Given the description of an element on the screen output the (x, y) to click on. 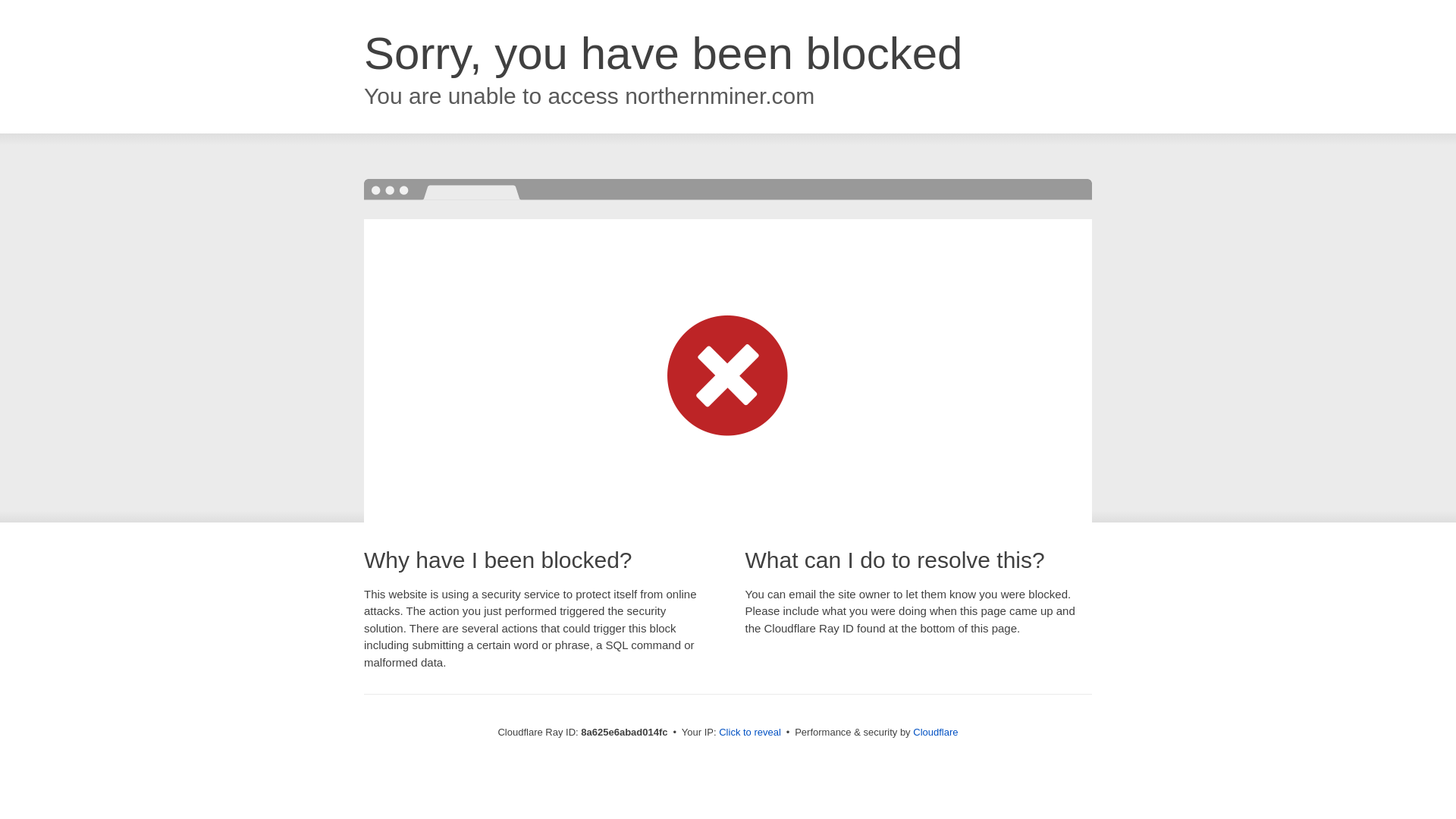
Cloudflare (935, 731)
Click to reveal (749, 732)
